Given the description of an element on the screen output the (x, y) to click on. 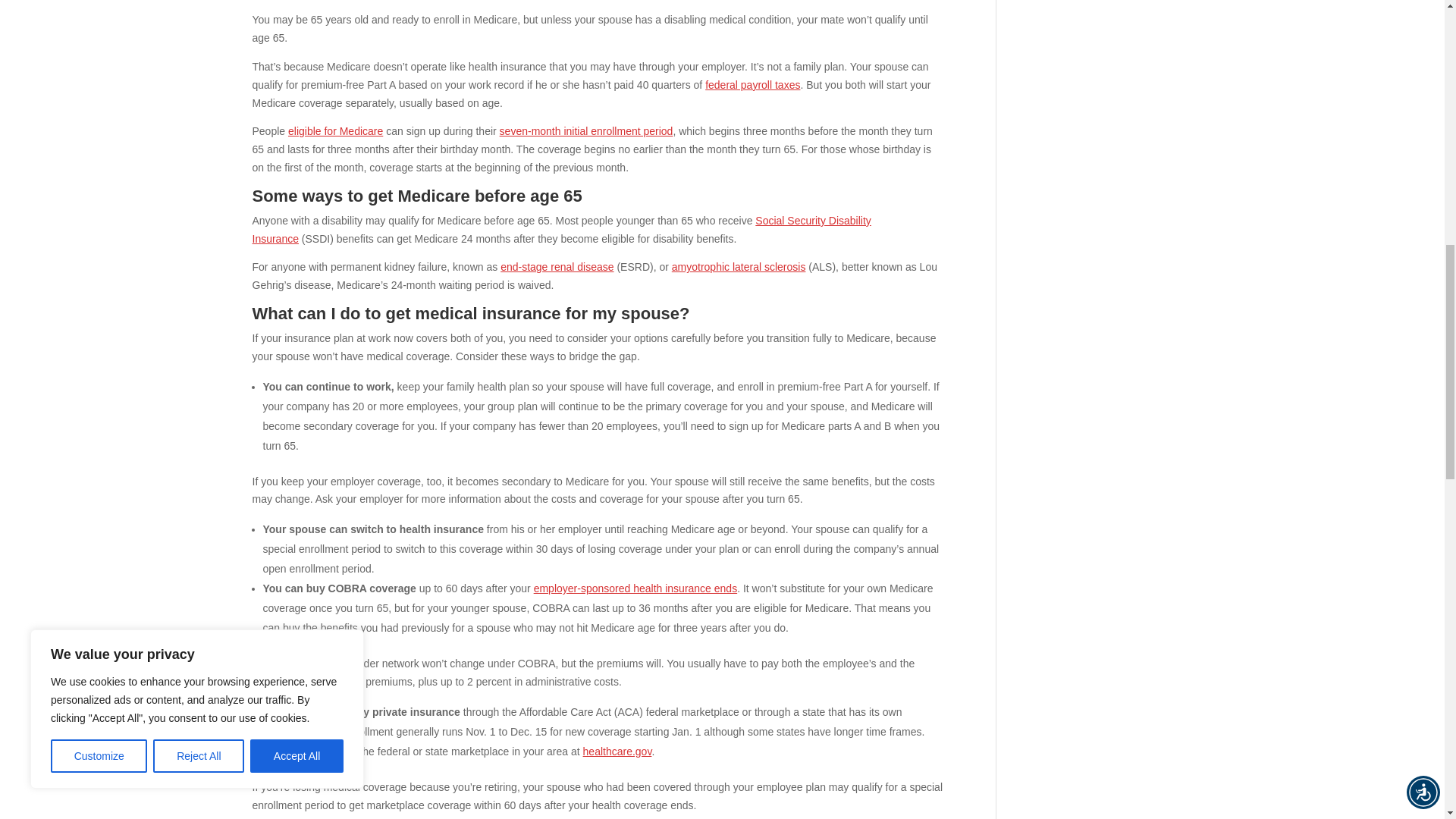
enrolling in Medicare (585, 131)
job loss options (636, 588)
ALS and Medicare (738, 266)
Medicare and kidney disease (556, 266)
Medicare eligibility (335, 131)
healtcare.gov (617, 751)
payroll taxes (751, 84)
SSDI (560, 229)
